Given the description of an element on the screen output the (x, y) to click on. 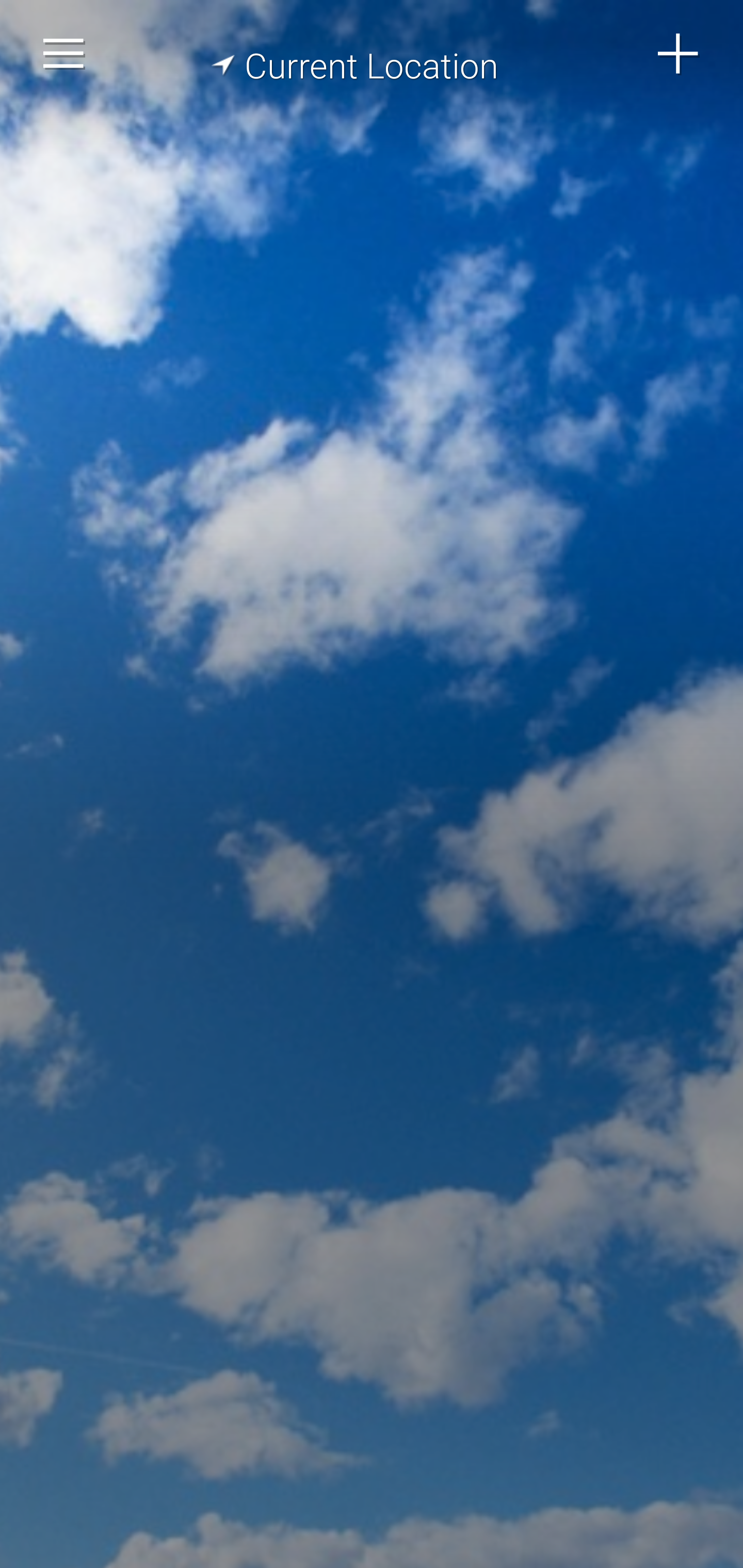
Sidebar (64, 54)
Add City (678, 53)
